Given the description of an element on the screen output the (x, y) to click on. 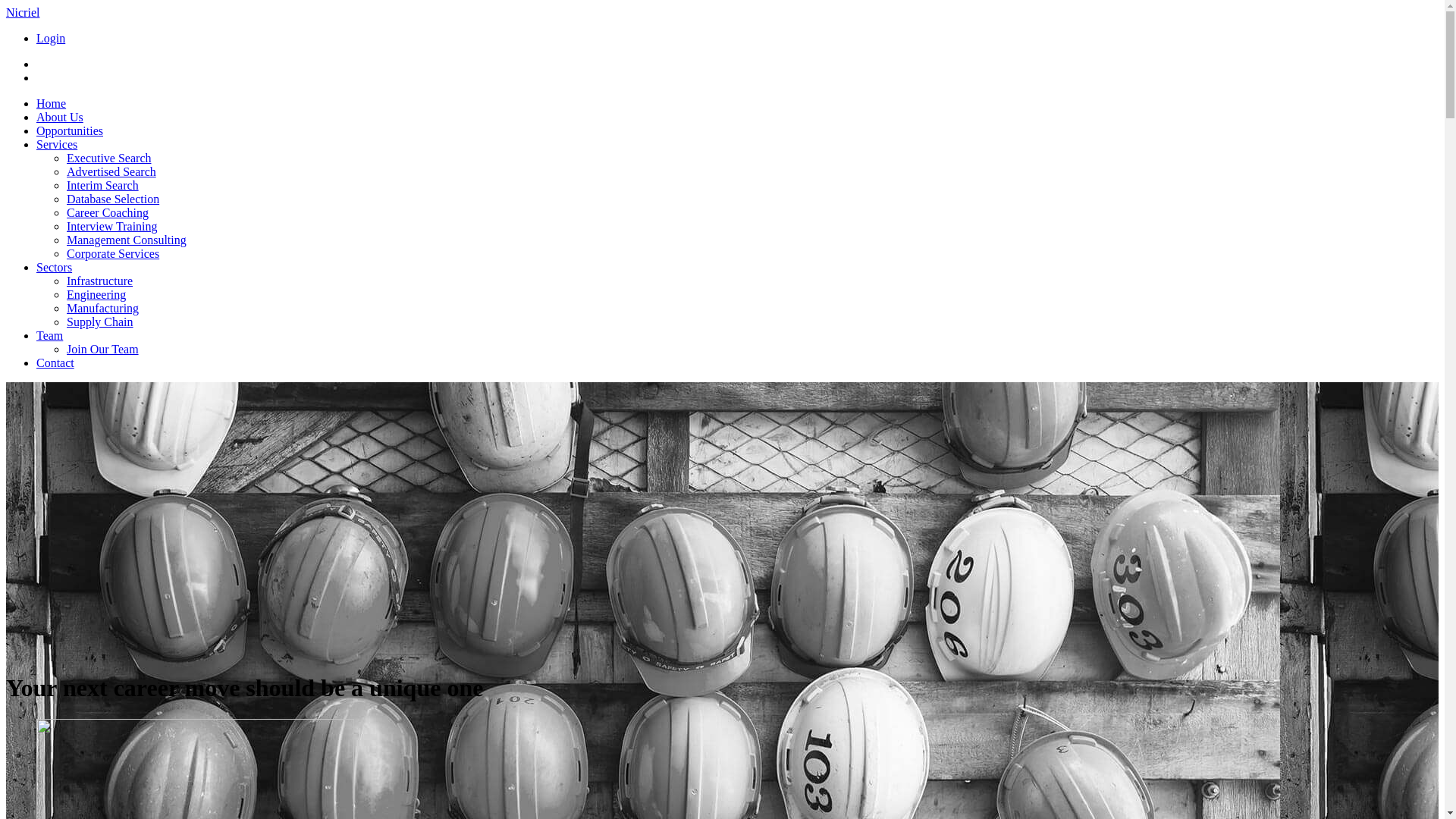
Supply Chain Element type: text (99, 321)
Interview Training Element type: text (111, 225)
About Us Element type: text (59, 116)
Interim Search Element type: text (102, 184)
Corporate Services Element type: text (112, 253)
Home Element type: text (50, 103)
Management Consulting Element type: text (126, 239)
Opportunities Element type: text (69, 130)
Manufacturing Element type: text (102, 307)
Join Our Team Element type: text (102, 348)
Executive Search Element type: text (108, 157)
Advertised Search Element type: text (111, 171)
Infrastructure Element type: text (99, 280)
Database Selection Element type: text (112, 198)
Career Coaching Element type: text (107, 212)
Sectors Element type: text (54, 266)
Engineering Element type: text (95, 294)
Services Element type: text (56, 144)
Nicriel Element type: text (22, 12)
Team Element type: text (49, 335)
Login Element type: text (50, 37)
Contact Element type: text (55, 362)
